Given the description of an element on the screen output the (x, y) to click on. 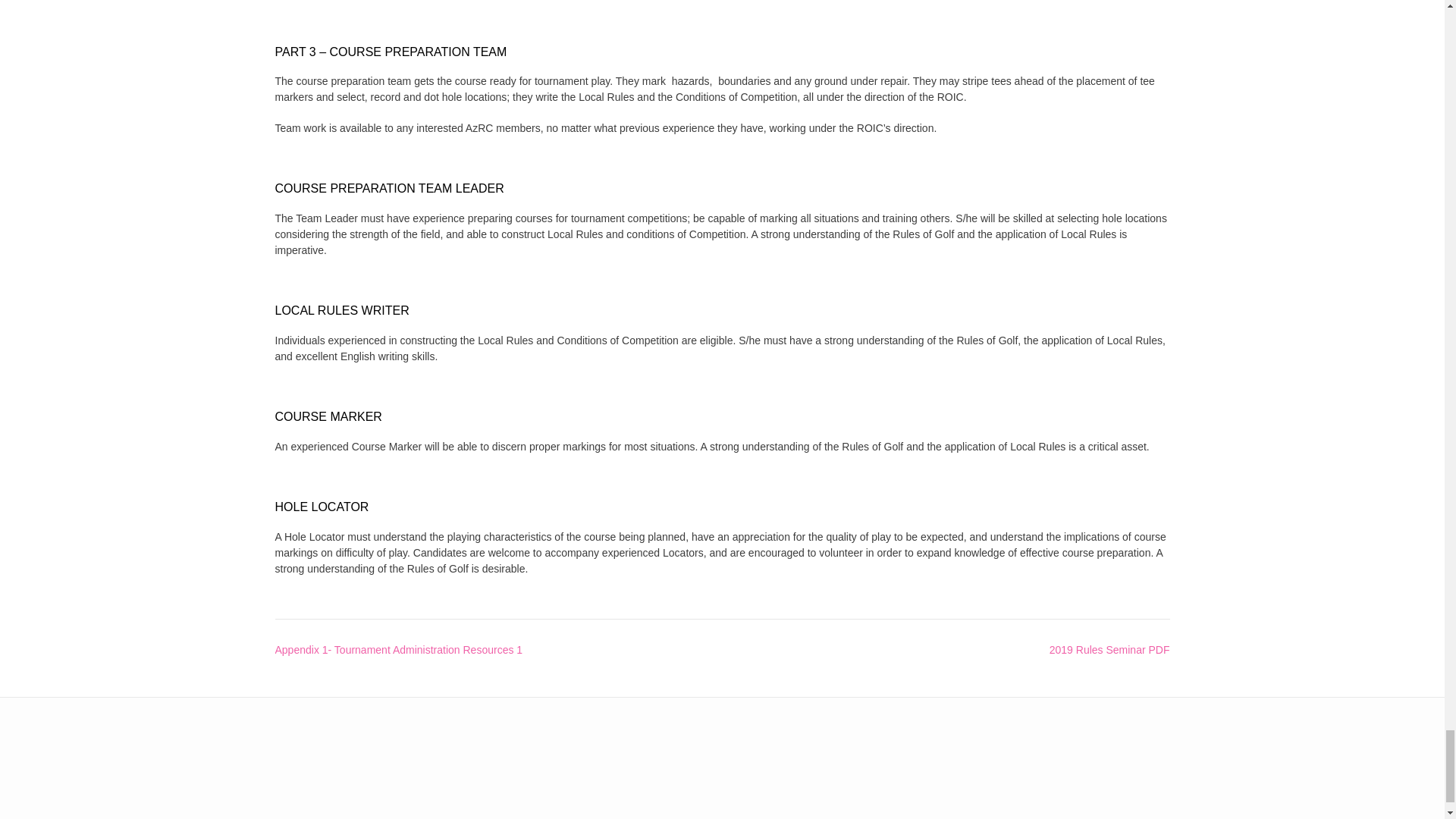
2019 Rules Seminar PDF (1109, 649)
Appendix 1- Tournament Administration Resources 1 (398, 649)
